Given the description of an element on the screen output the (x, y) to click on. 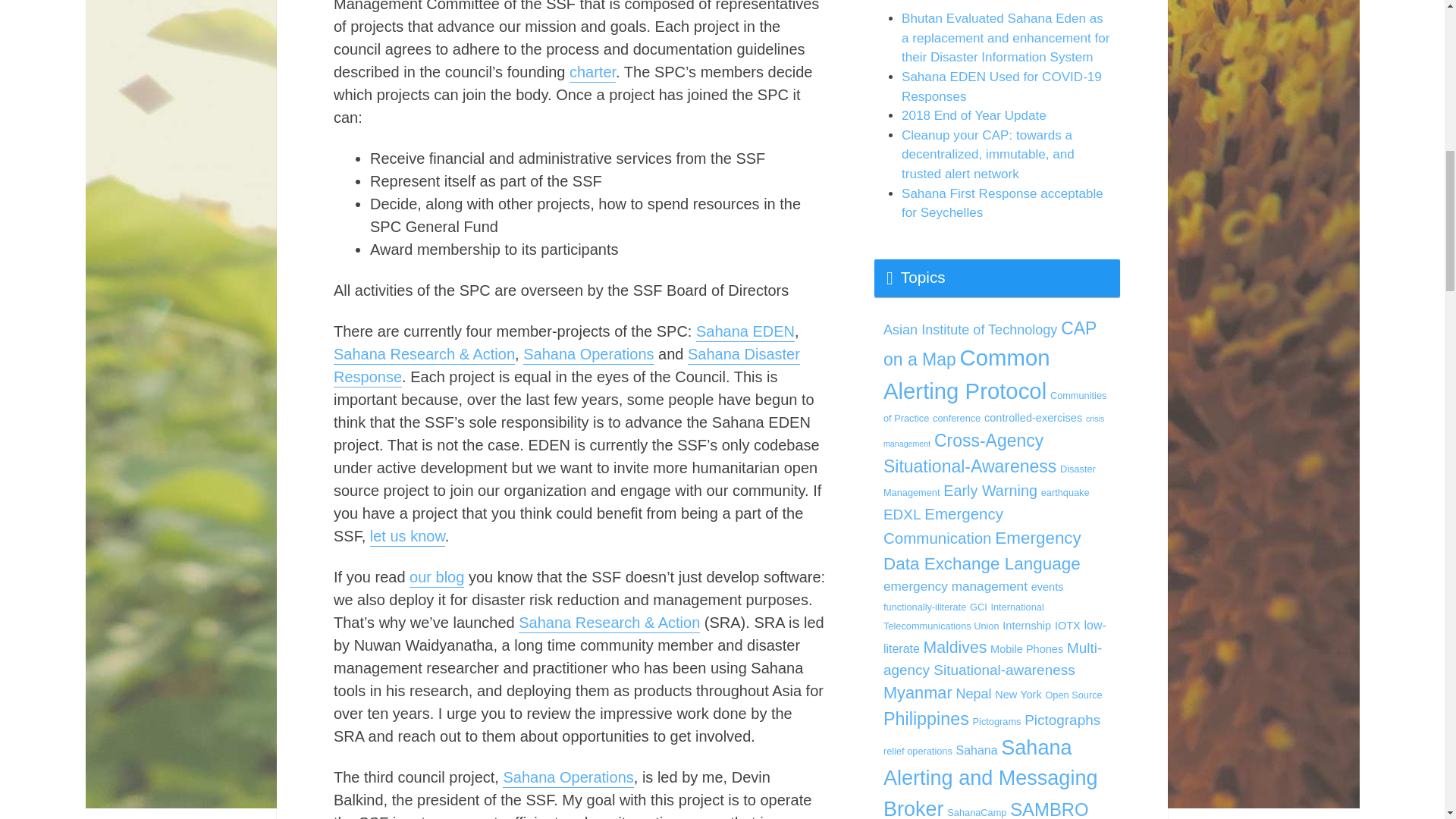
Sahana EDEN (744, 332)
Sahana Operations (587, 354)
charter (592, 72)
Sahana Disaster Response (566, 366)
